Given the description of an element on the screen output the (x, y) to click on. 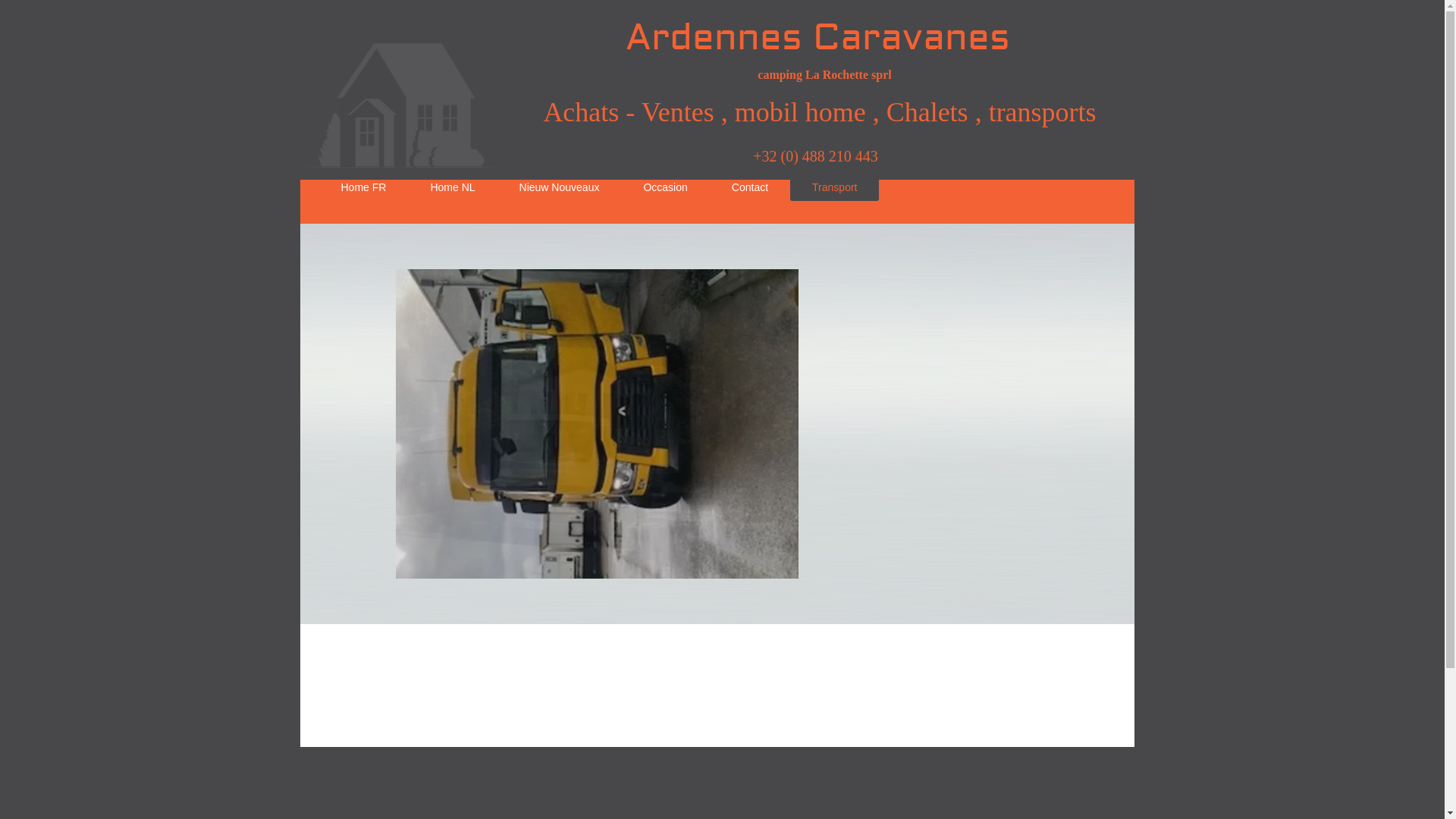
Contact Element type: text (749, 186)
Home NL Element type: text (451, 186)
Nieuw Nouveaux Element type: text (559, 186)
Transport Element type: text (834, 186)
Occasion Element type: text (665, 186)
Home FR Element type: text (362, 186)
